Given the description of an element on the screen output the (x, y) to click on. 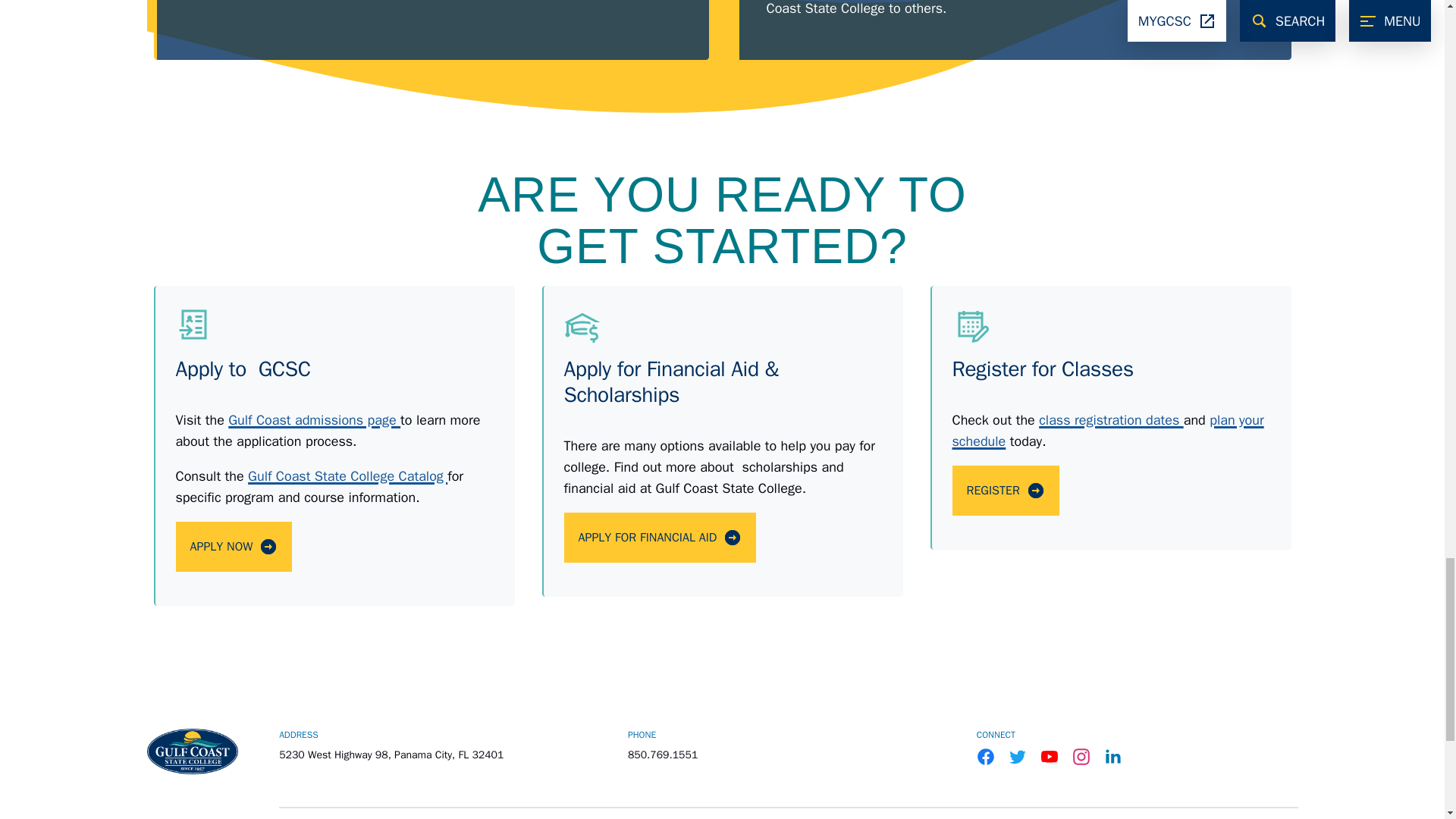
Go to Gulf Coast State College LinkedIn (1112, 756)
Gulf Coast State College Catalog (346, 475)
Go To Gulf Coast State College Homepage (192, 750)
plan your schedule (1107, 430)
REGISTER (1005, 490)
Go to Gulf Coast State College Facebook (985, 756)
Go to Gulf Coast State College YouTube (1049, 756)
Gulf Coast State College Facebook (985, 756)
Gulf Coast State College Catalog  (346, 475)
Gulf Coast admissions page (314, 419)
Gulf Coast State College YouTube (1049, 756)
Gulf Coast State College Twitter (1017, 756)
Go to Gulf Coast State College Instagram (1080, 756)
APPLY NOW (234, 546)
